Given the description of an element on the screen output the (x, y) to click on. 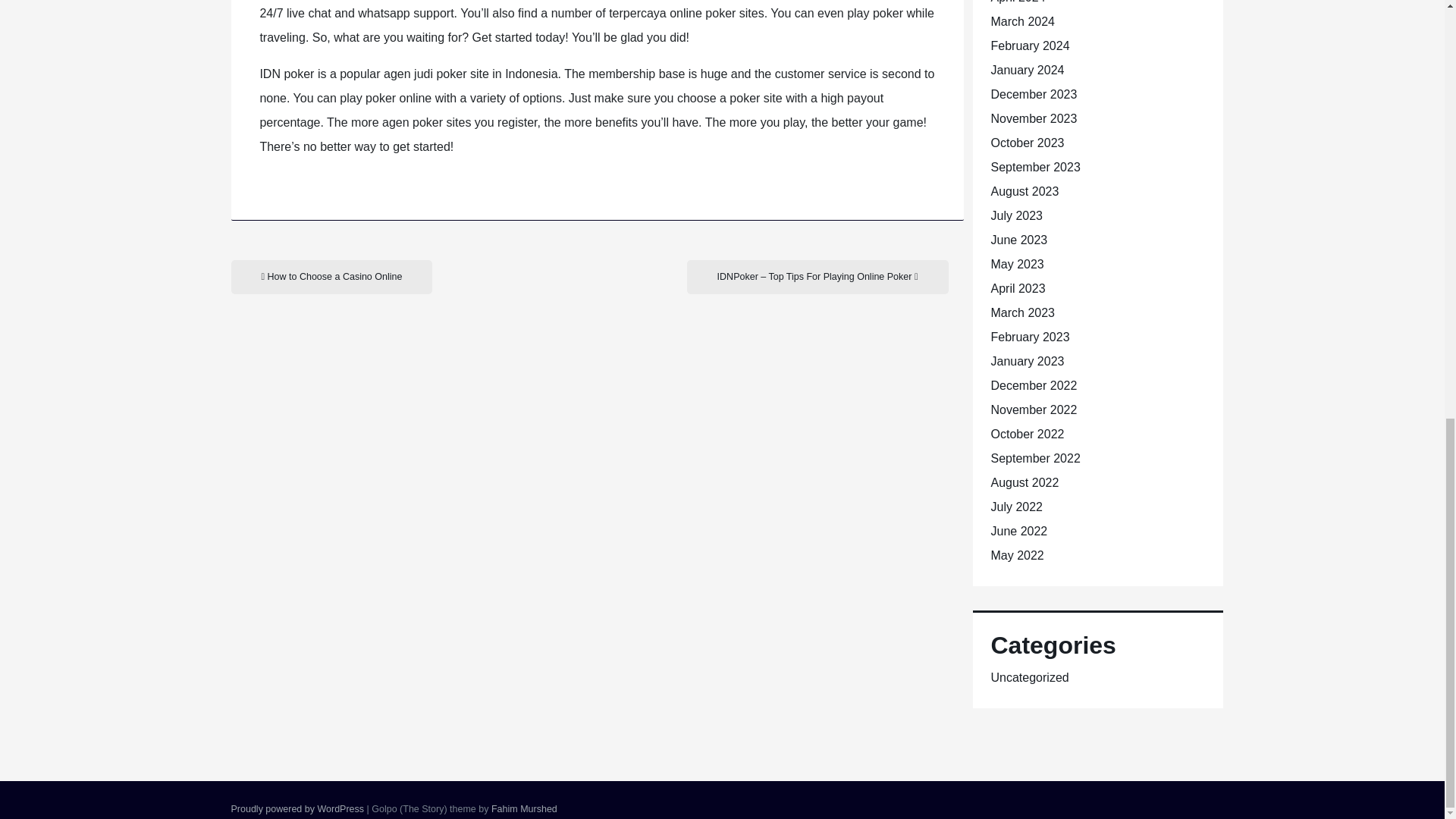
April 2024 (1017, 2)
December 2023 (1033, 93)
February 2023 (1029, 336)
November 2023 (1033, 118)
June 2023 (1018, 239)
August 2023 (1024, 191)
January 2023 (1027, 360)
April 2023 (1017, 287)
May 2023 (1016, 264)
February 2024 (1029, 45)
January 2024 (1027, 69)
July 2023 (1016, 215)
September 2023 (1035, 166)
March 2023 (1022, 312)
October 2023 (1027, 142)
